Given the description of an element on the screen output the (x, y) to click on. 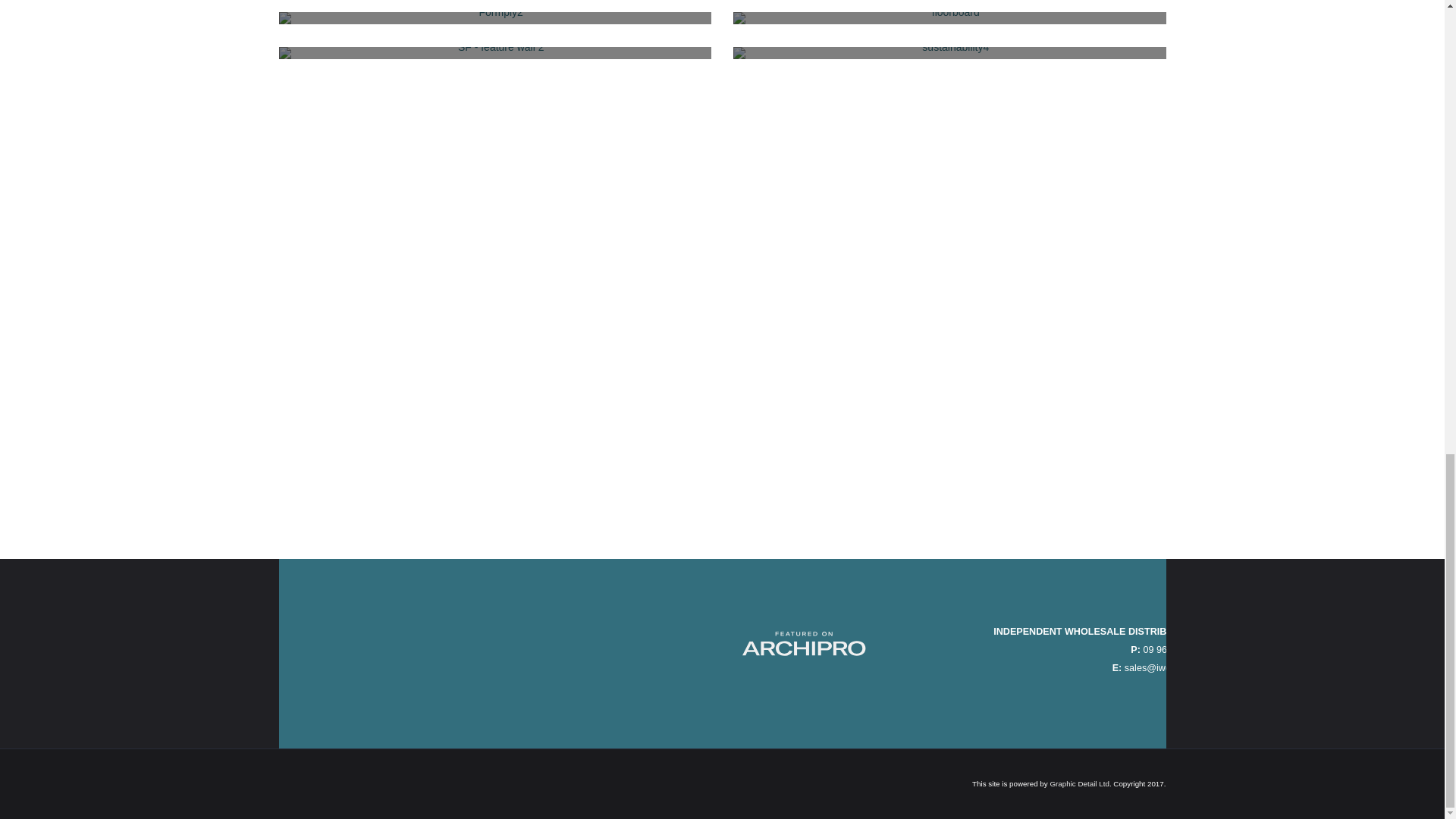
floorboard (949, 18)
Graphic Detail Ltd (1078, 783)
Formply2 (495, 18)
09 963 1880 (1168, 649)
Submit (310, 494)
